Given the description of an element on the screen output the (x, y) to click on. 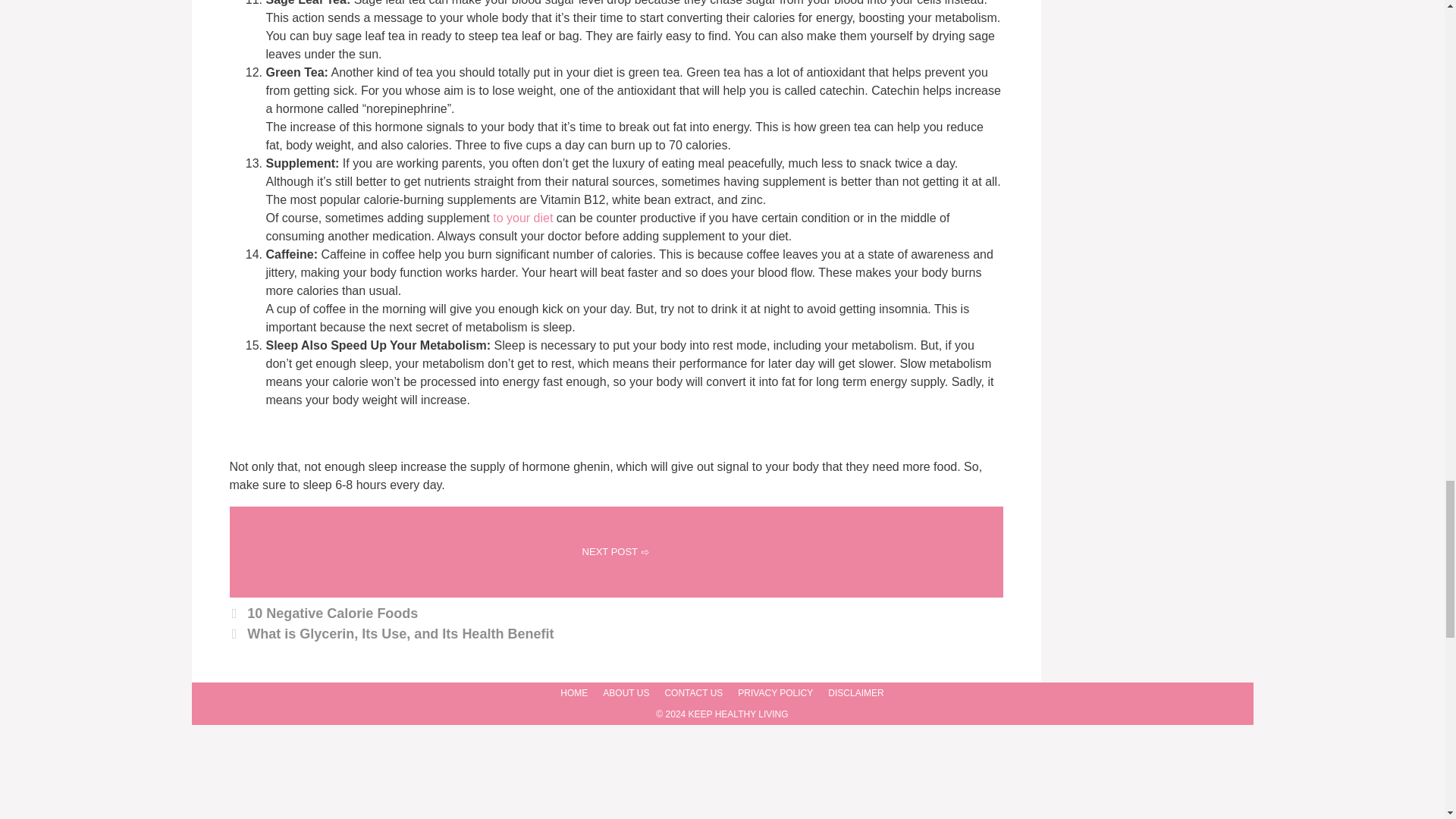
PRIVACY POLICY (775, 692)
to your diet (521, 217)
DISCLAIMER (855, 692)
ABOUT US (625, 692)
10 Negative Calorie Foods (332, 613)
CONTACT US (692, 692)
HOME (574, 692)
What is Glycerin, Its Use, and Its Health Benefit (400, 633)
